Given the description of an element on the screen output the (x, y) to click on. 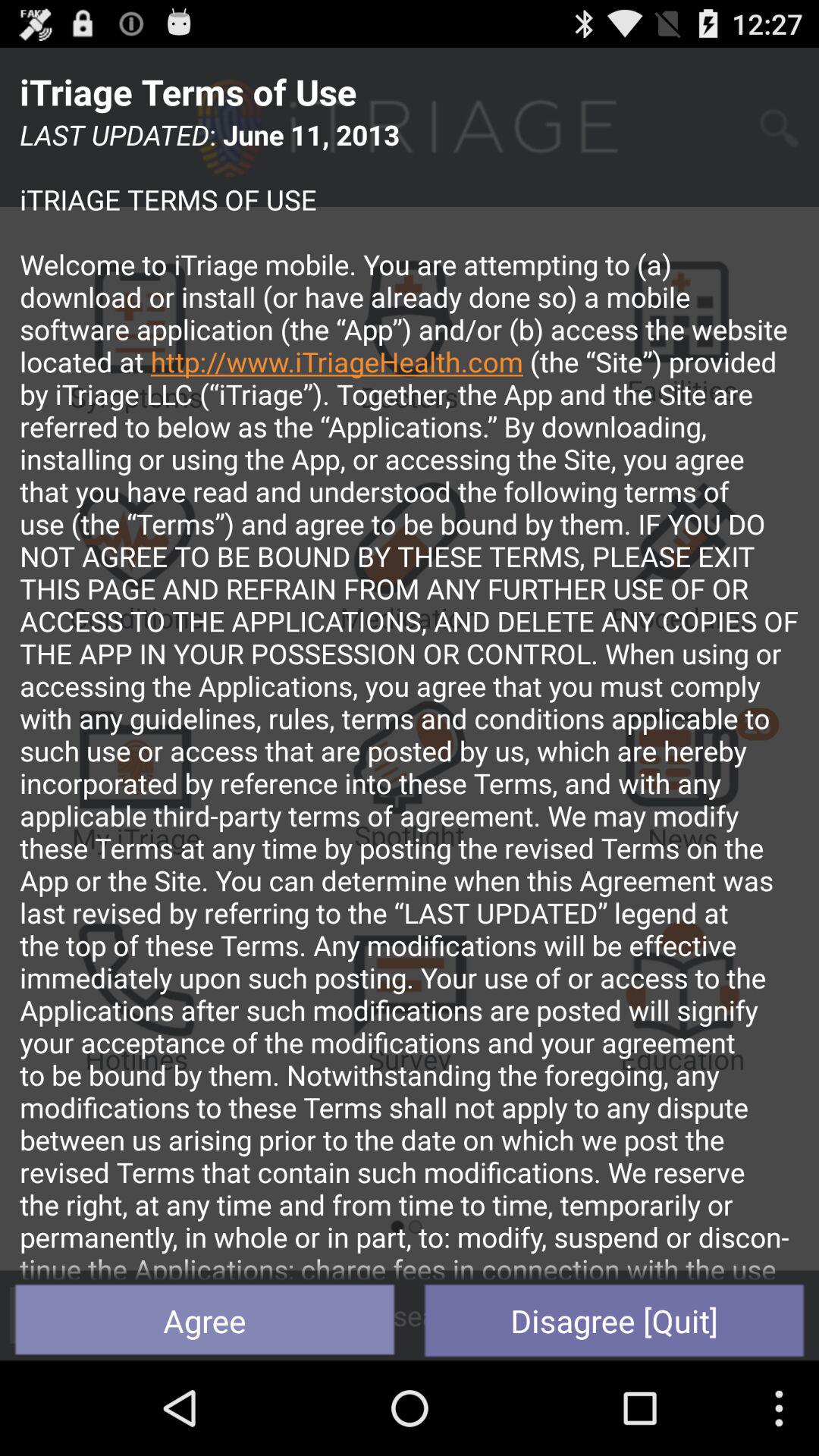
scroll until last updated june icon (409, 698)
